Given the description of an element on the screen output the (x, y) to click on. 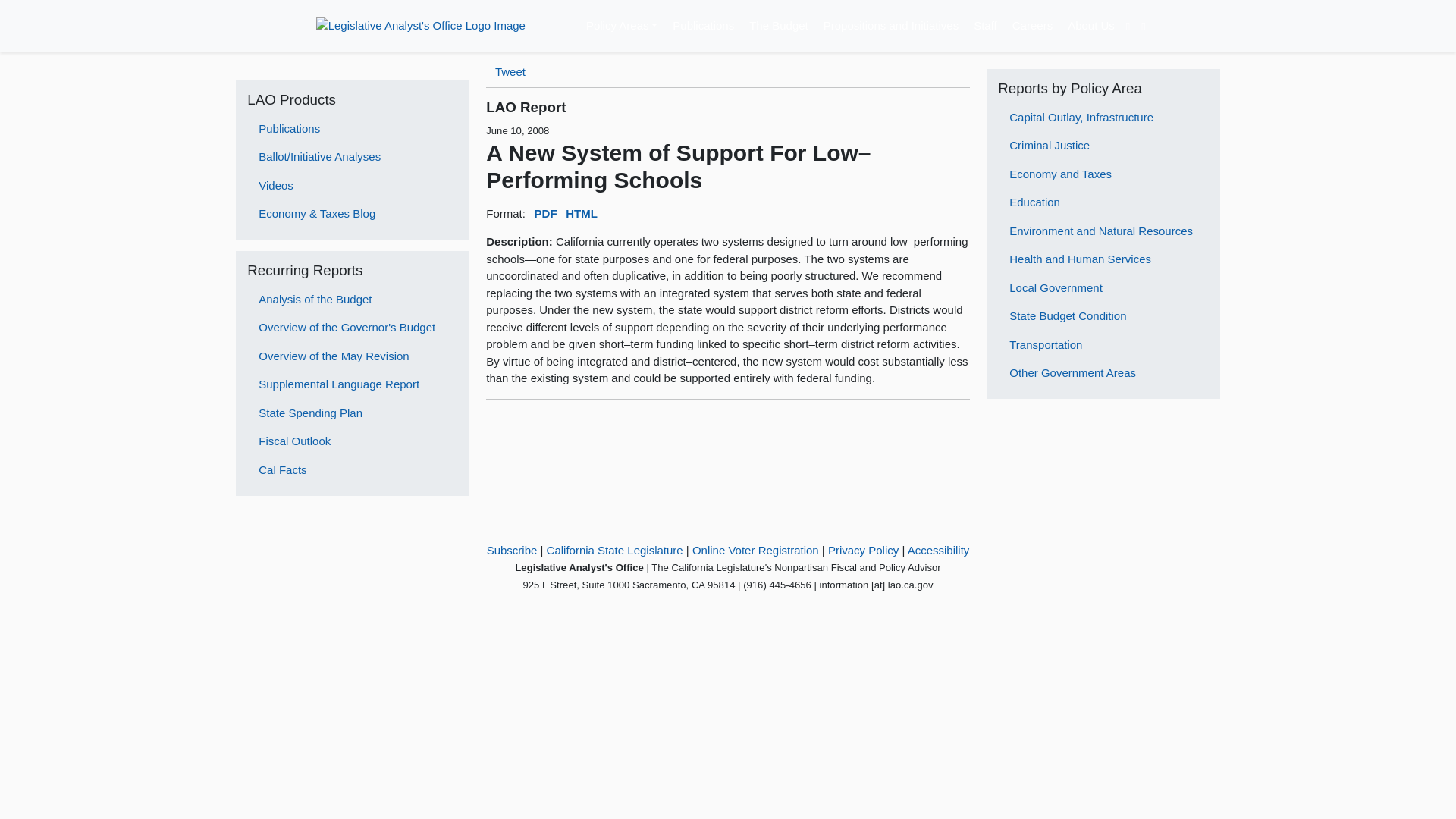
Tweet (510, 71)
The Budget (778, 23)
Staff (985, 23)
Overview of the Governor's Budget (352, 328)
Videos (352, 185)
Supplemental Language Report (352, 384)
PDF (545, 212)
Fiscal Outlook (352, 441)
State Spending Plan (352, 412)
Analysis of the Budget (352, 299)
